Given the description of an element on the screen output the (x, y) to click on. 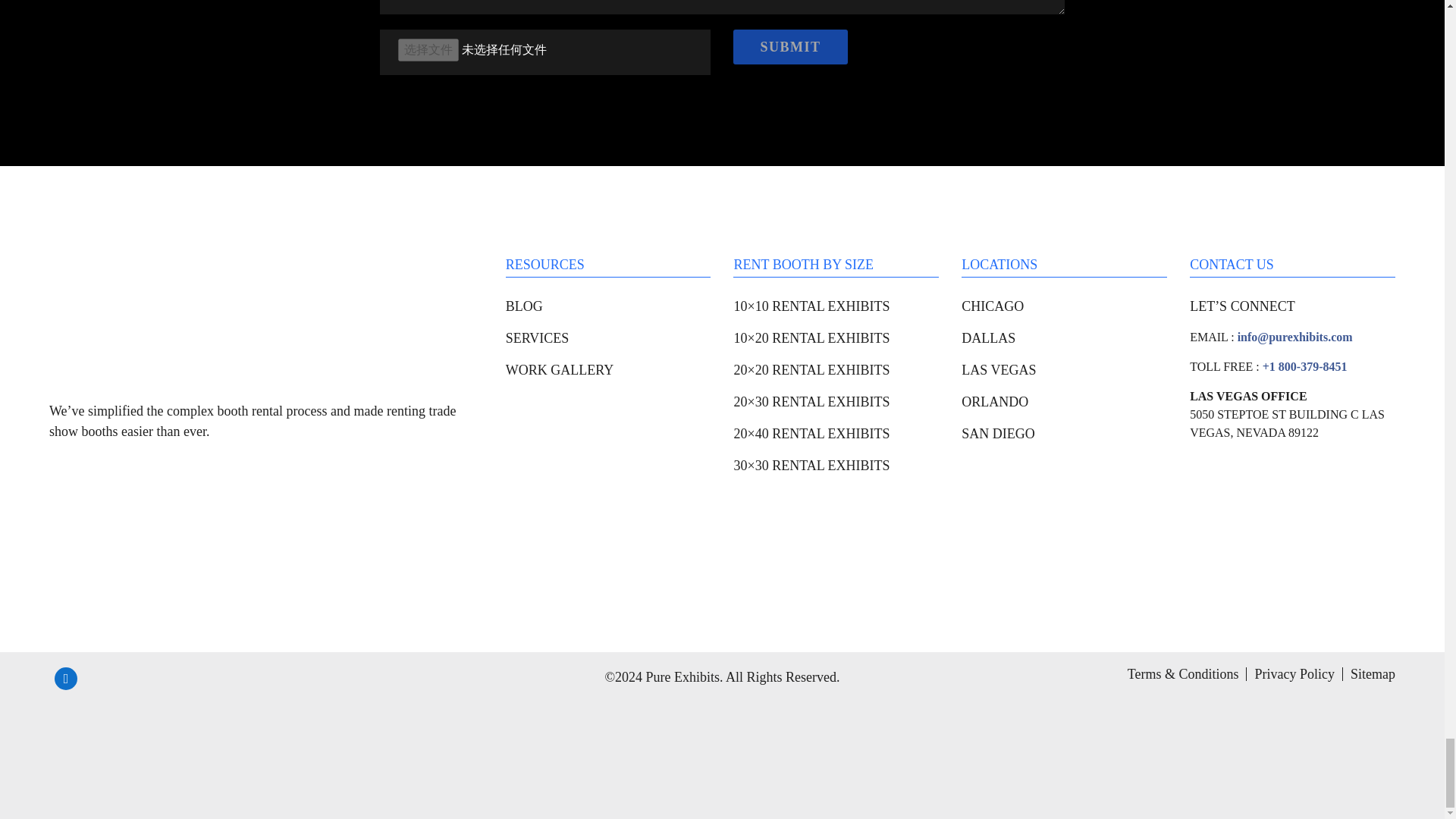
DMCA.com Protection Status (162, 744)
Home (162, 312)
SUBMIT (790, 46)
